Given the description of an element on the screen output the (x, y) to click on. 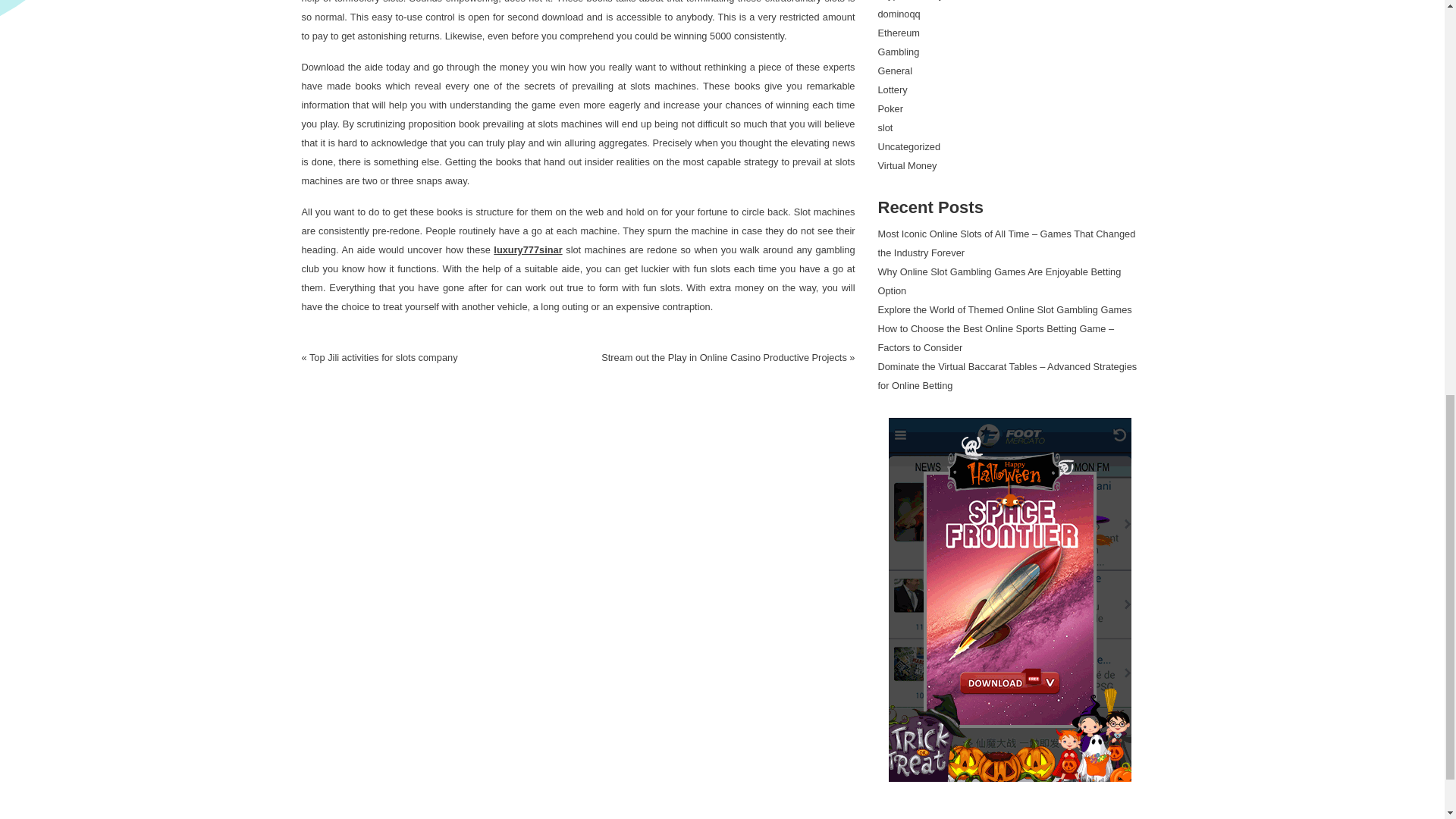
dominoqq (898, 13)
Cryptocurrency (910, 0)
Gambling (898, 51)
Poker (889, 108)
Explore the World of Themed Online Slot Gambling Games (1004, 309)
Virtual Money (907, 165)
Uncategorized (908, 146)
Stream out the Play in Online Casino Productive Projects (724, 357)
Top Jili activities for slots company (383, 357)
luxury777sinar (527, 249)
